Given the description of an element on the screen output the (x, y) to click on. 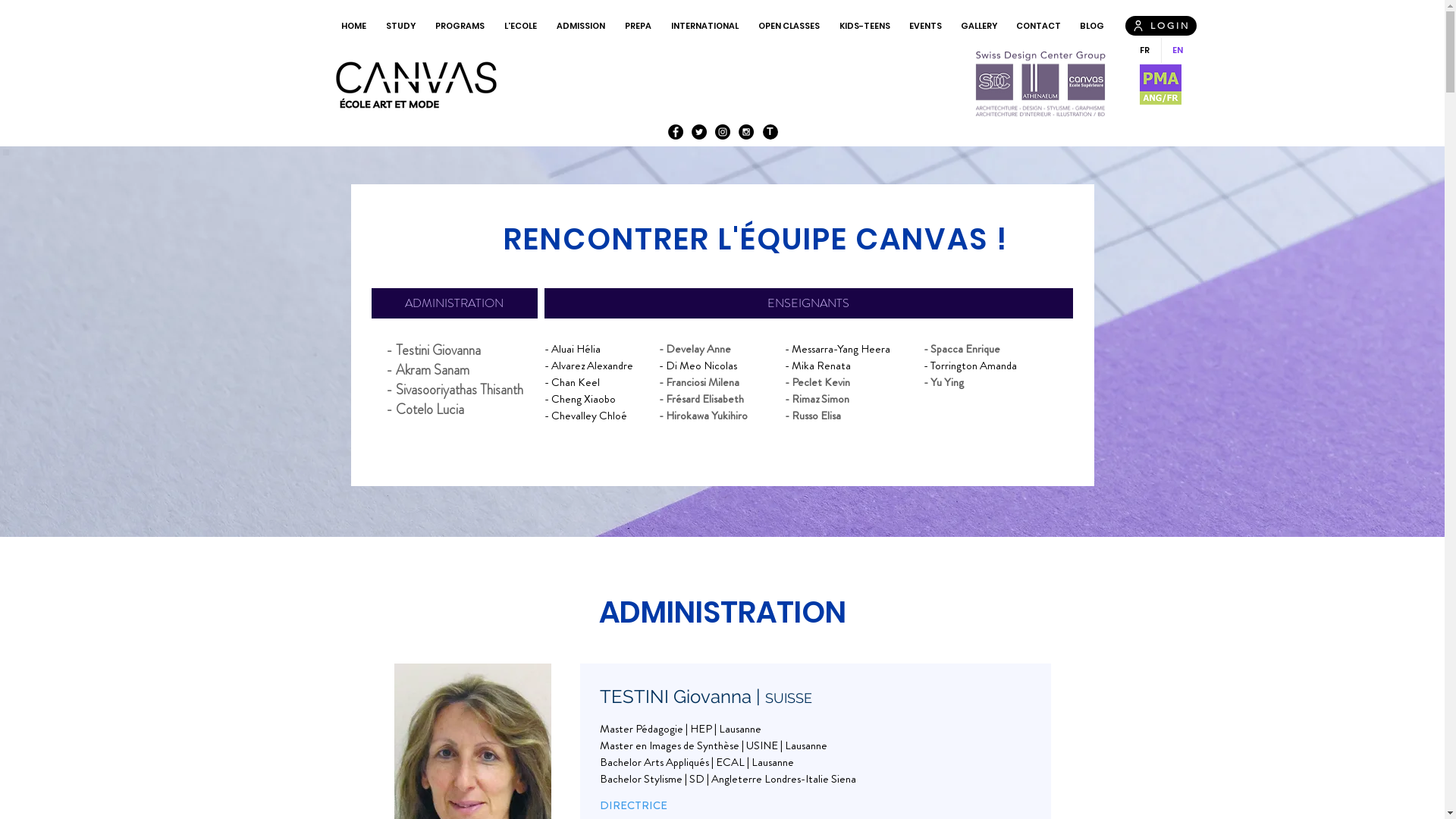
PREPA Element type: text (637, 26)
CONTACT Element type: text (1038, 26)
ADMISSION Element type: text (580, 26)
ADMINISTRATION Element type: text (454, 303)
PROGRAMS Element type: text (458, 26)
BLOG Element type: text (1091, 26)
FR Element type: text (1144, 49)
EVENTS Element type: text (924, 26)
LOGIN Element type: text (1160, 25)
KIDS-TEENS Element type: text (863, 26)
INTERNATIONAL Element type: text (703, 26)
ENSEIGNANTS Element type: text (808, 303)
T Element type: text (770, 131)
EN Element type: text (1176, 49)
OPEN CLASSES Element type: text (787, 26)
HOME Element type: text (353, 26)
